Given the description of an element on the screen output the (x, y) to click on. 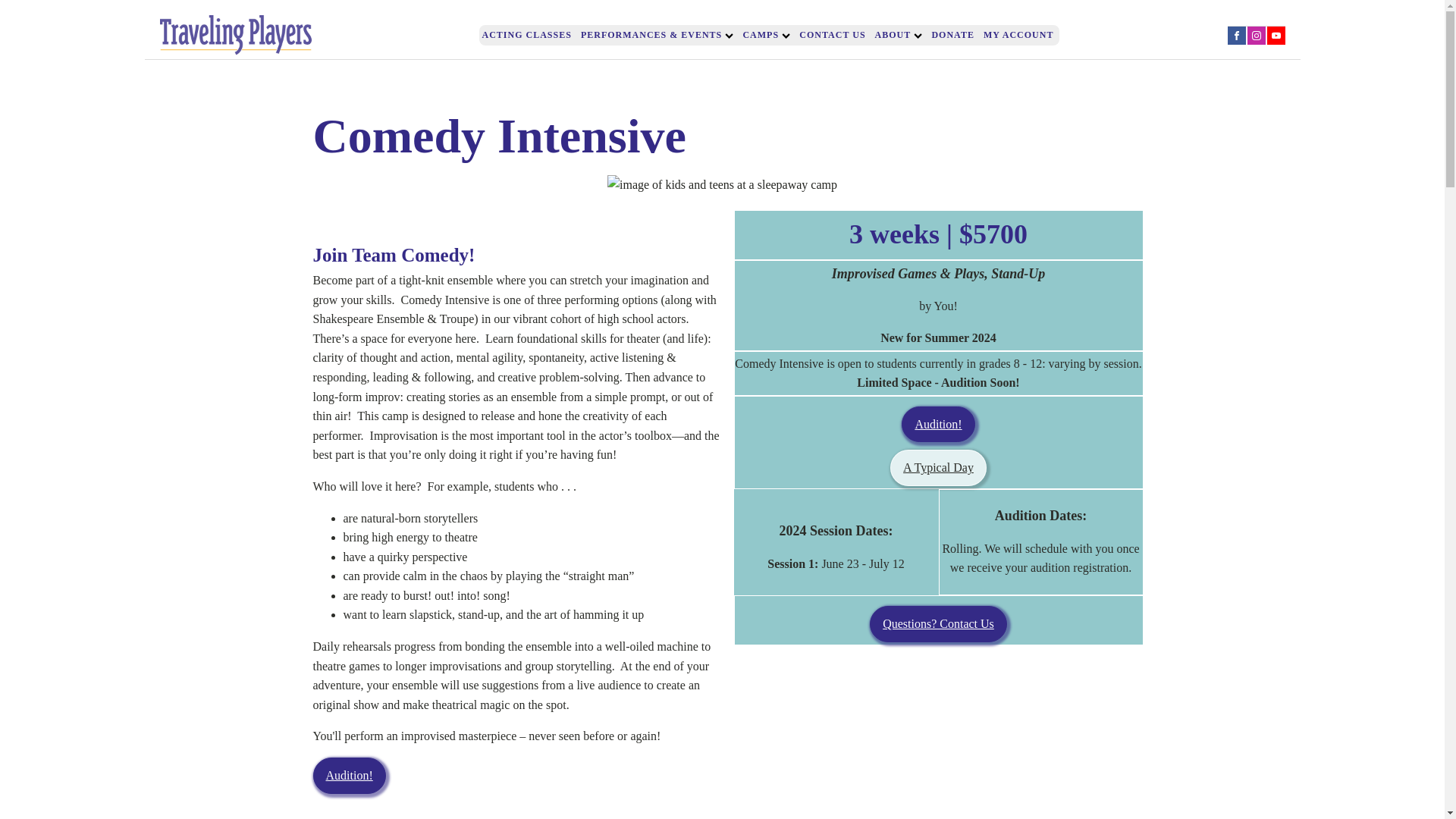
DONATE (952, 35)
ABOUT (899, 35)
CONTACT US (831, 35)
MY ACCOUNT (1019, 35)
CAMPS (766, 35)
ACTING CLASSES (526, 35)
